Given the description of an element on the screen output the (x, y) to click on. 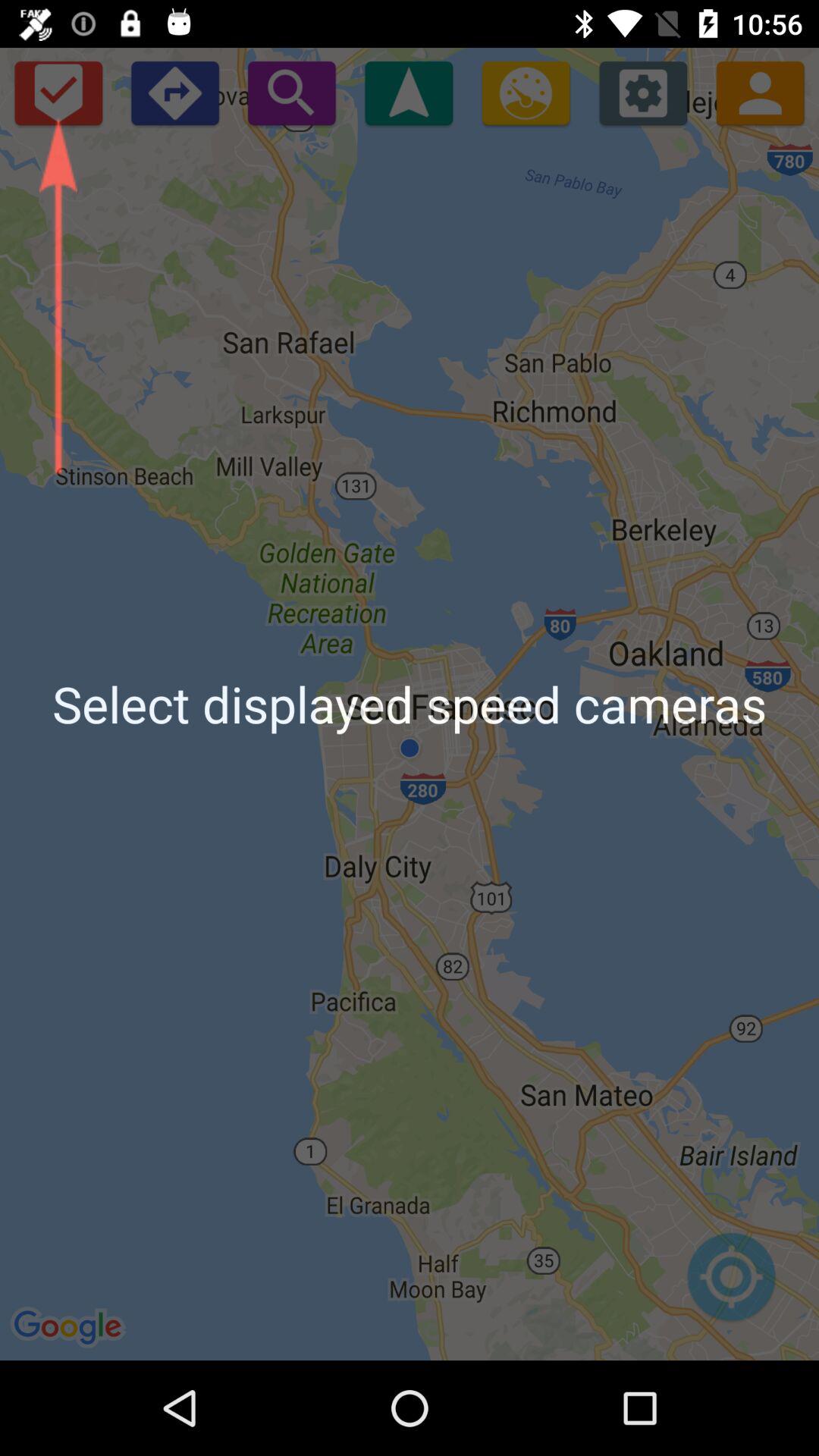
search option (291, 92)
